Given the description of an element on the screen output the (x, y) to click on. 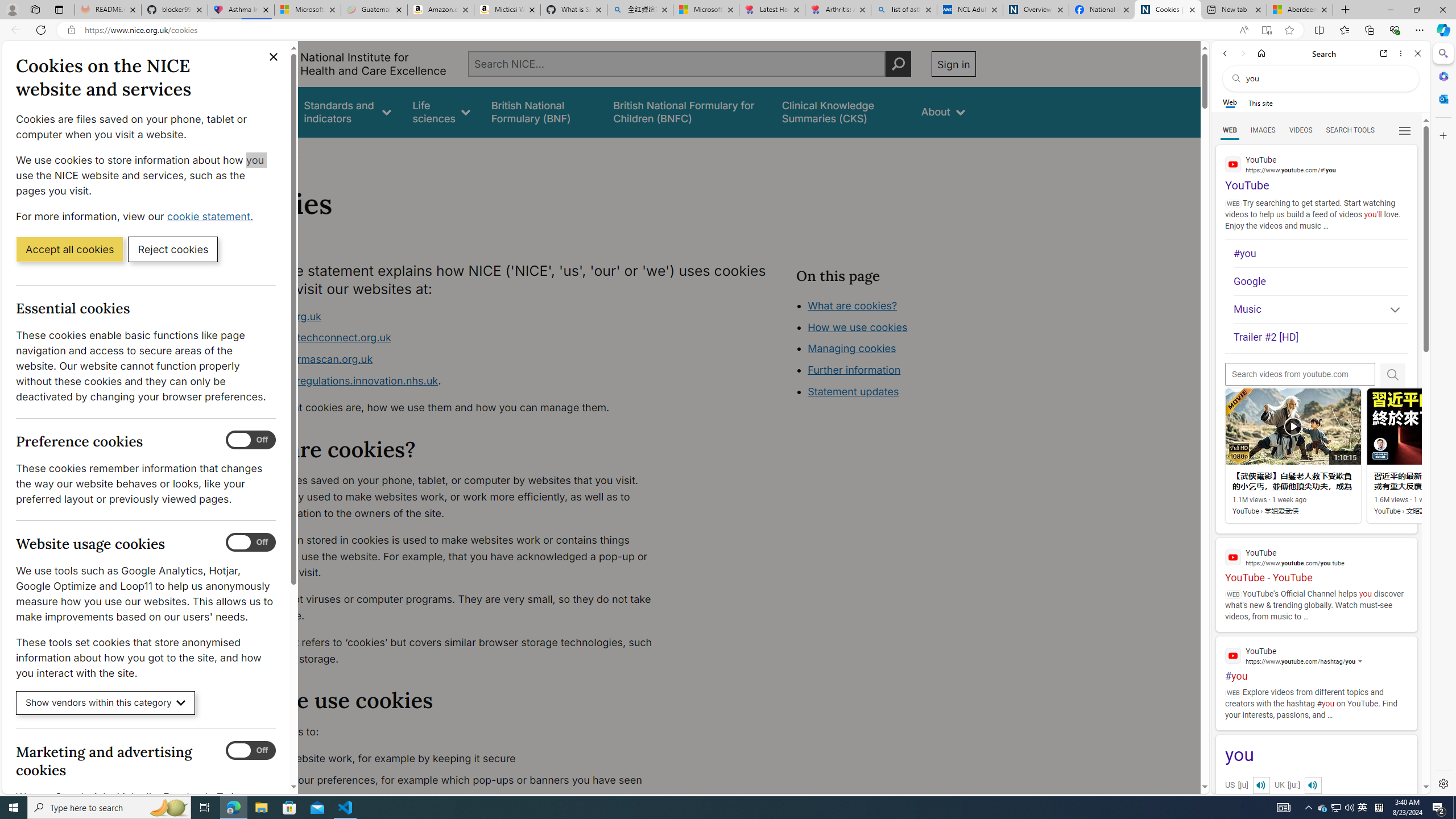
cookie statement. (Opens in a new window) (211, 215)
Click to scroll right (1407, 456)
Search Filter, Search Tools (1350, 129)
www.ukpharmascan.org.uk (305, 359)
Show vendors within this category (105, 703)
Microsoft-Report a Concern to Bing (307, 9)
www.nice.org.uk (452, 316)
Asthma Inhalers: Names and Types (240, 9)
About (283, 152)
